Given the description of an element on the screen output the (x, y) to click on. 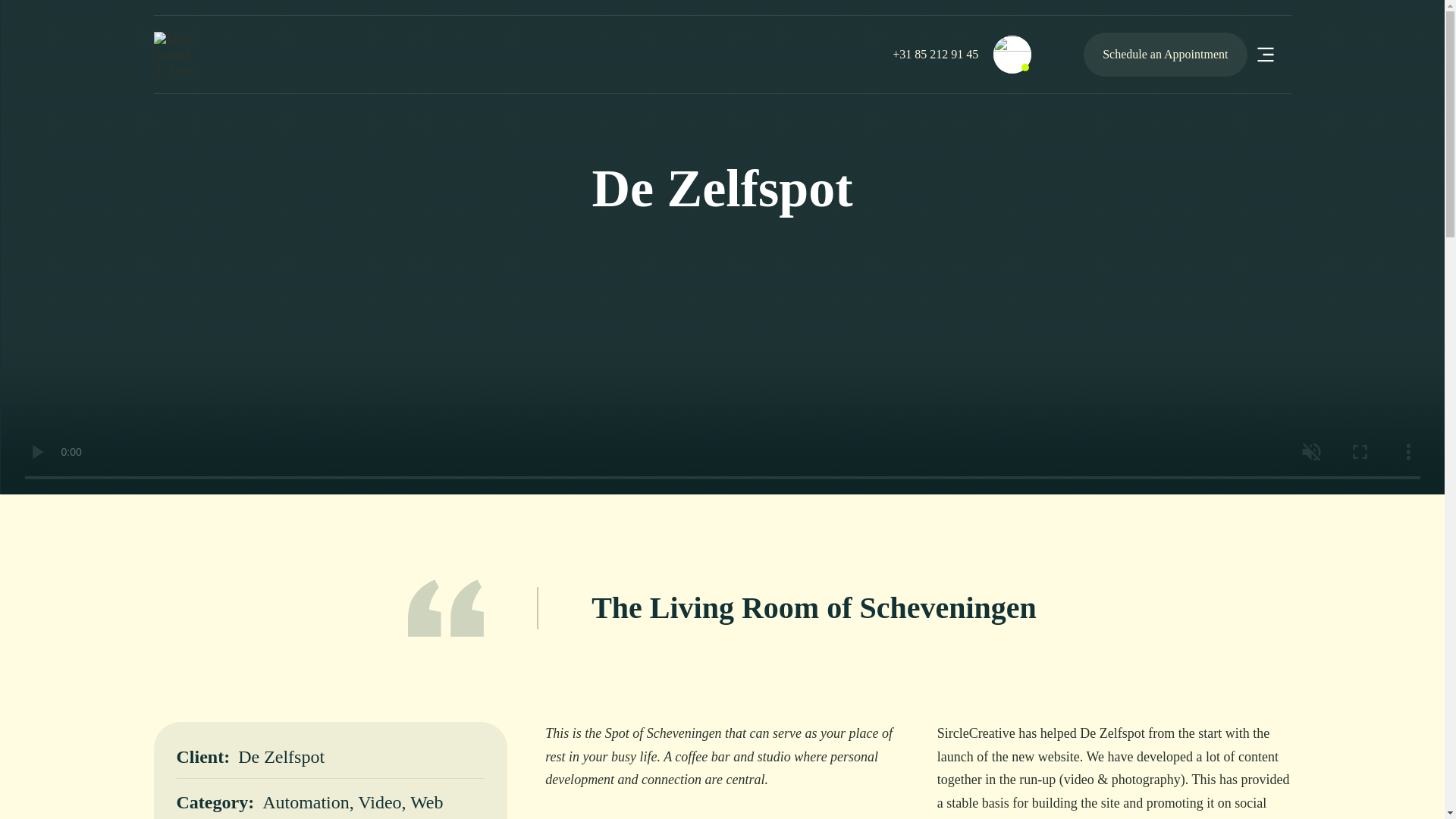
Schedule an Appointment (1164, 54)
